Given the description of an element on the screen output the (x, y) to click on. 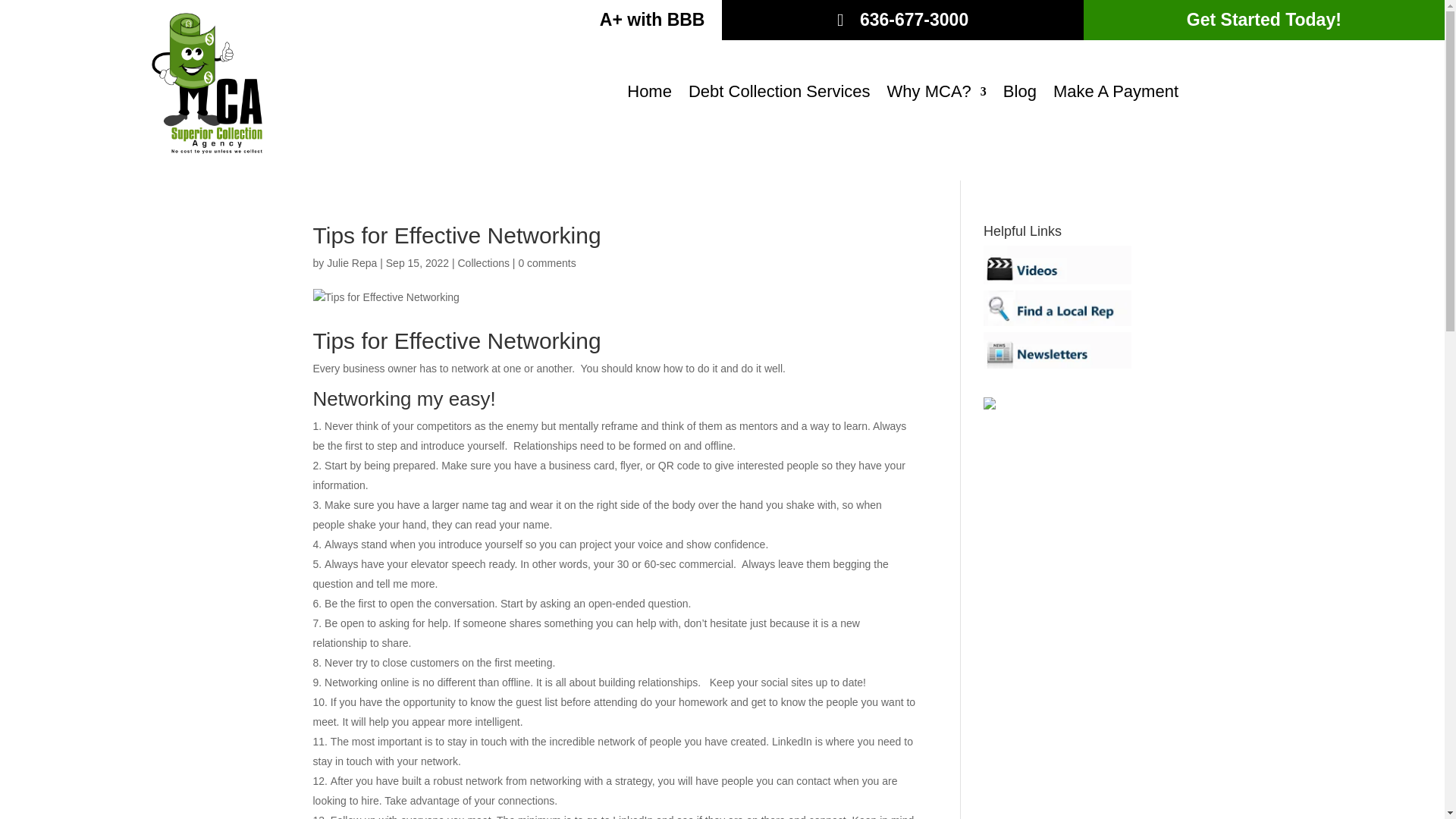
Home (649, 94)
Make A Payment (1114, 94)
Julie Repa (351, 263)
Collections (482, 263)
Posts by Julie Repa (351, 263)
Get Started Today! (1263, 20)
MCAManagementD33bR03aP01ZL (207, 82)
0 comments (546, 263)
Why MCA? (936, 94)
636-677-3000 (902, 20)
Blog (1019, 94)
Debt Collection Services (779, 94)
